Given the description of an element on the screen output the (x, y) to click on. 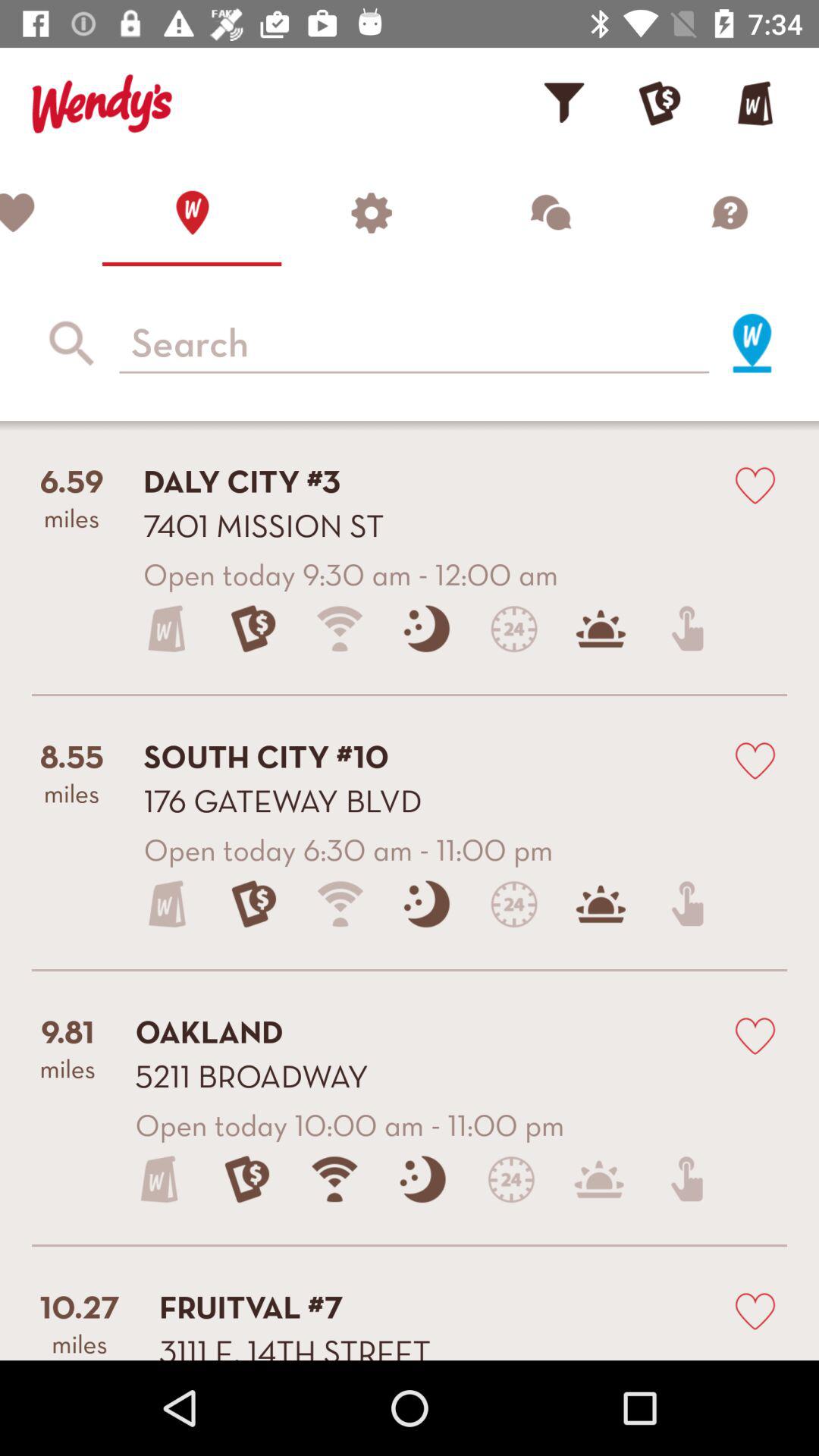
locate store (191, 212)
